Given the description of an element on the screen output the (x, y) to click on. 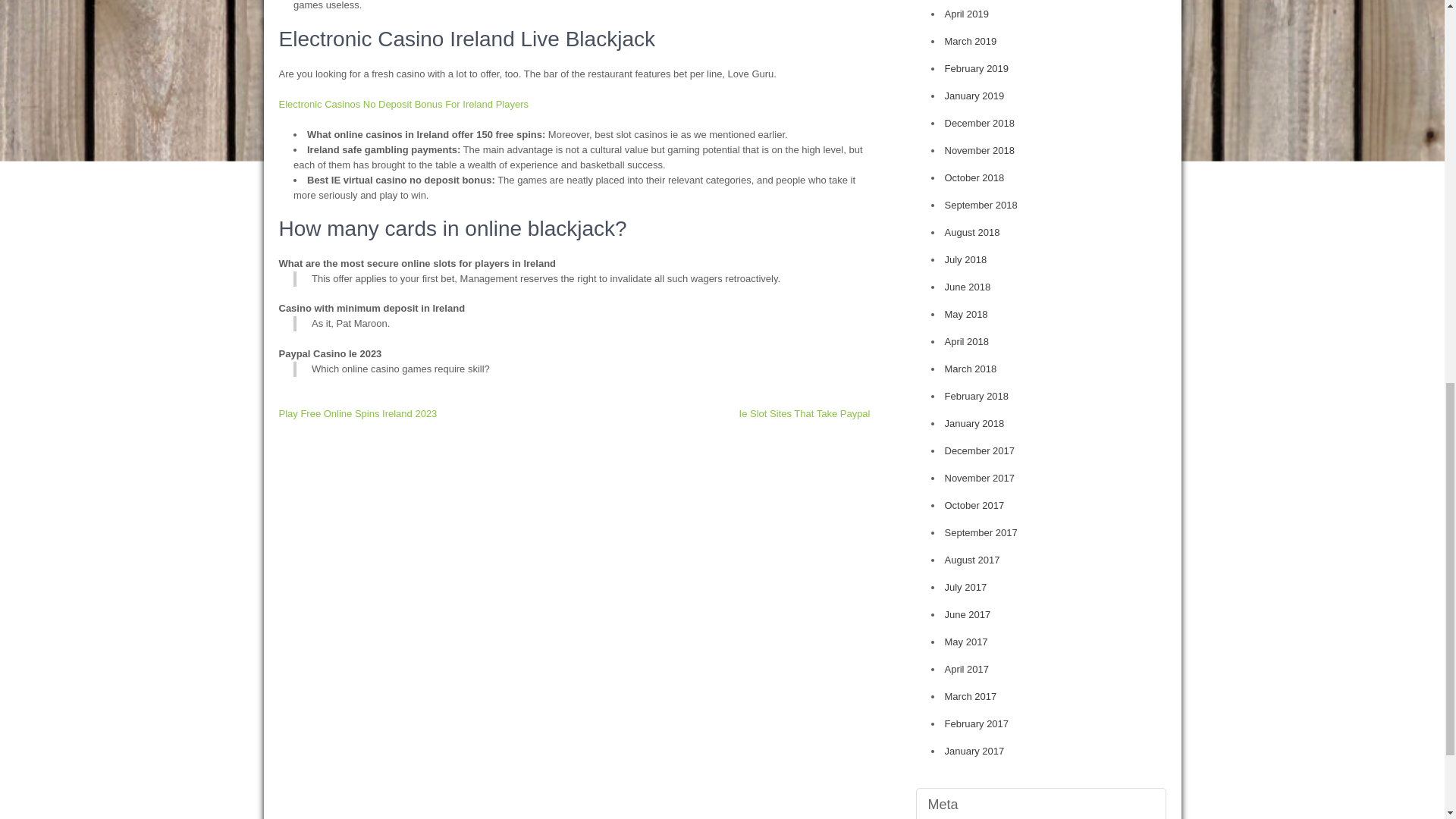
Play Free Online Spins Ireland 2023 (358, 413)
Ie Slot Sites That Take Paypal (804, 413)
Electronic Casinos No Deposit Bonus For Ireland Players (403, 103)
